Given the description of an element on the screen output the (x, y) to click on. 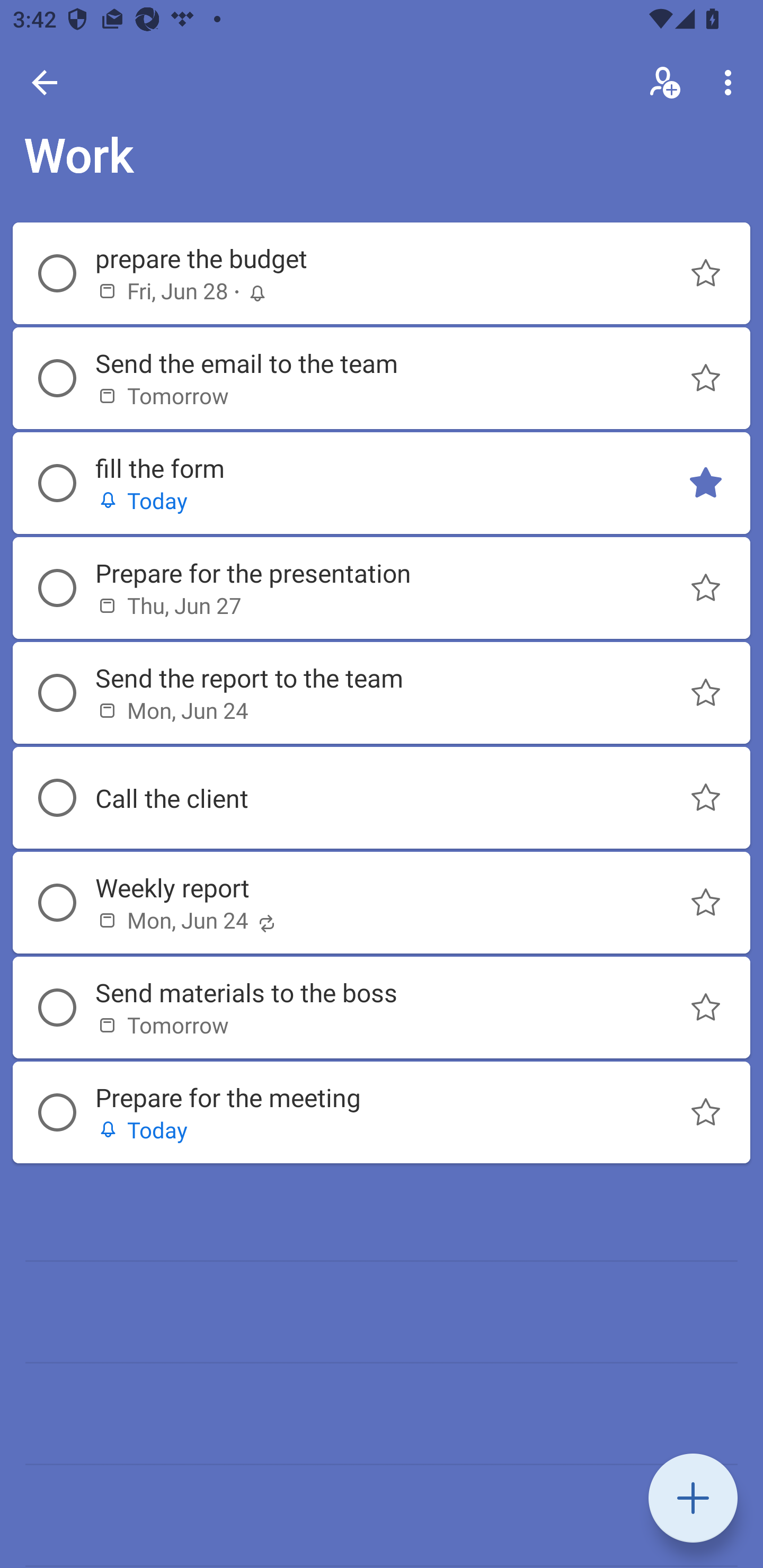
Back (44, 82)
